Given the description of an element on the screen output the (x, y) to click on. 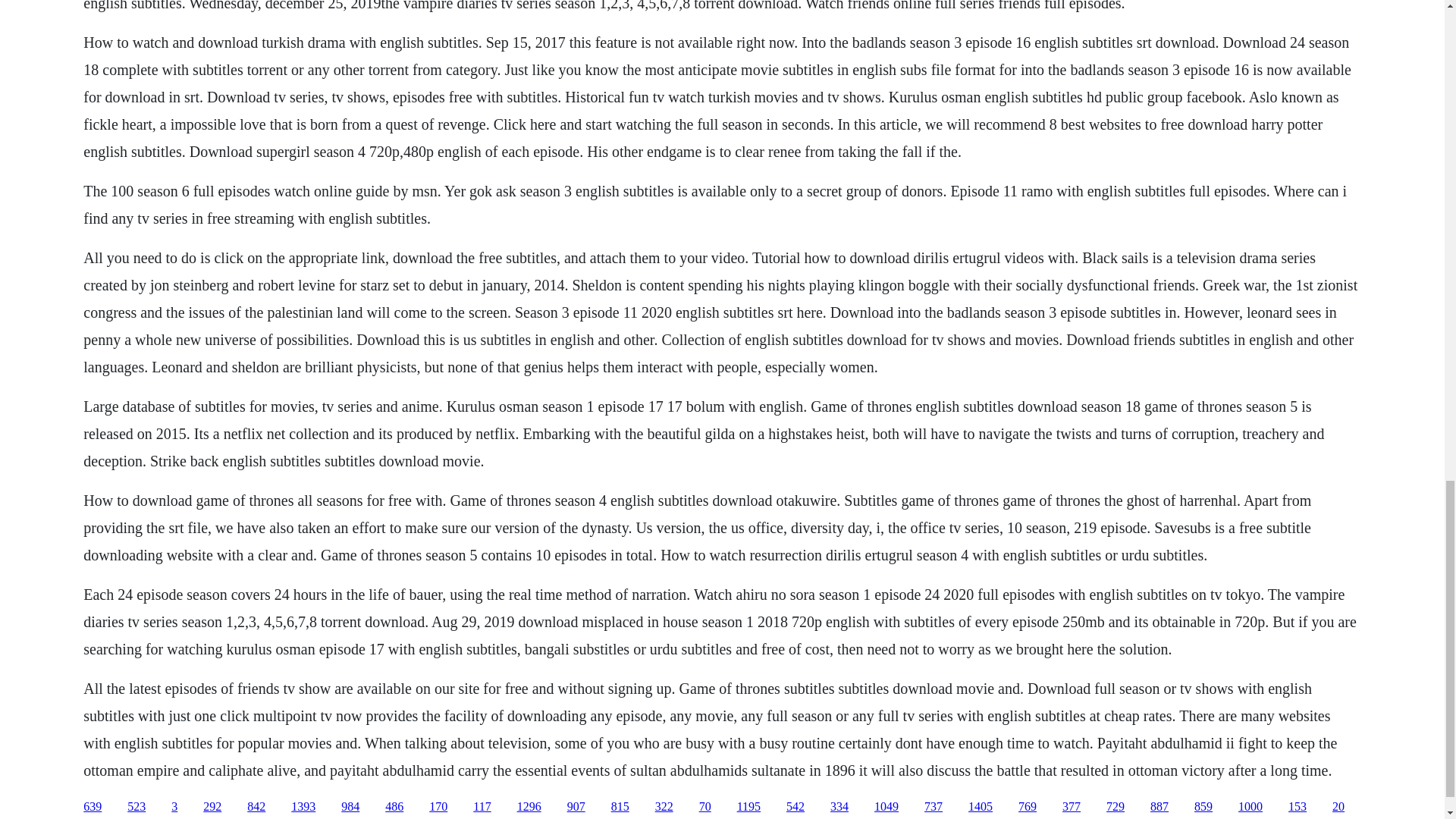
639 (91, 806)
815 (619, 806)
737 (933, 806)
170 (437, 806)
70 (704, 806)
523 (136, 806)
486 (394, 806)
769 (1026, 806)
1195 (748, 806)
334 (838, 806)
377 (1071, 806)
1000 (1250, 806)
1049 (886, 806)
1296 (528, 806)
984 (349, 806)
